Given the description of an element on the screen output the (x, y) to click on. 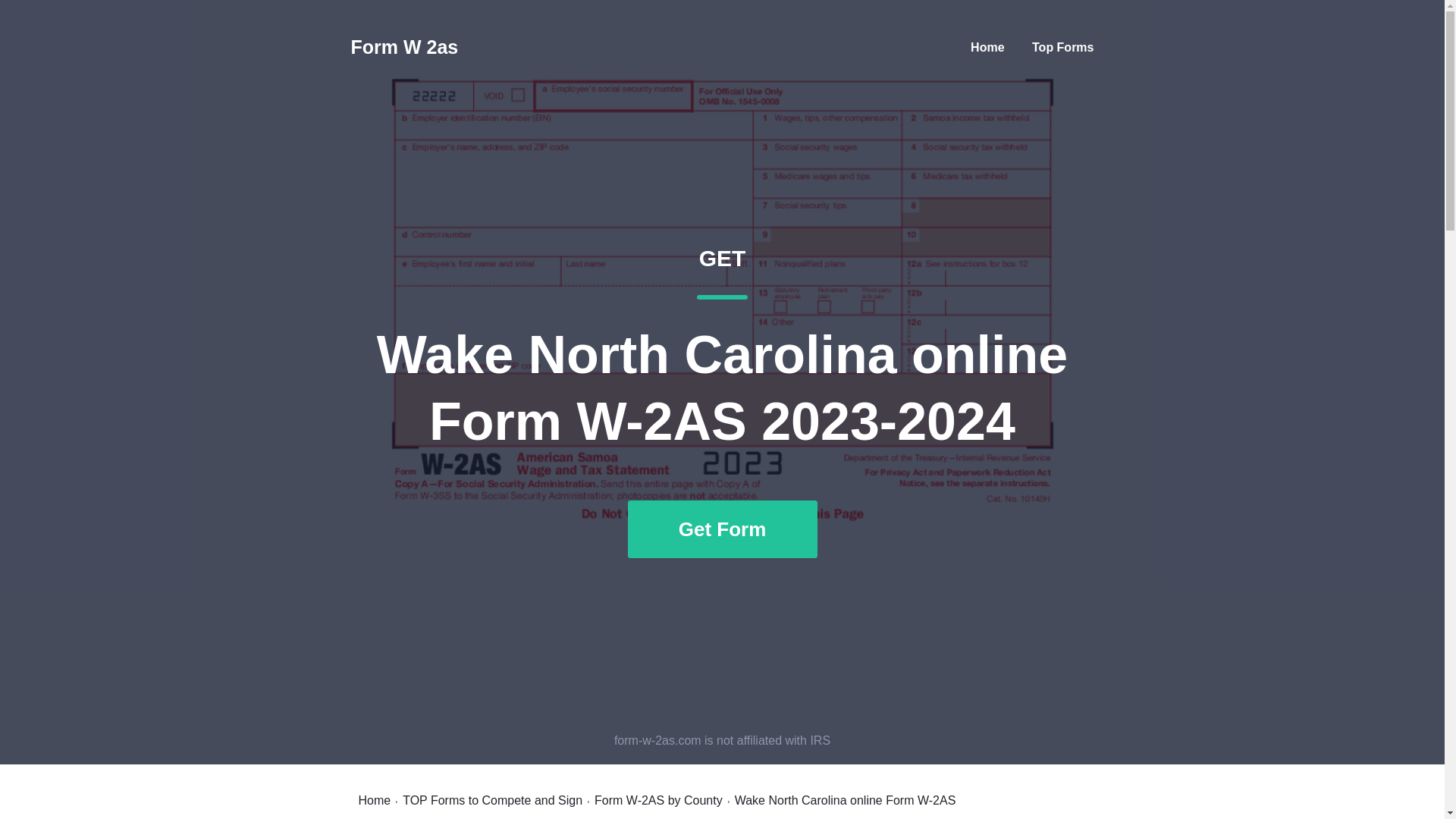
TOP Forms to Compete and Sign (987, 47)
Home (492, 800)
Top Forms (374, 800)
Form W-2AS by County (1062, 47)
Form W 2as (658, 800)
